Given the description of an element on the screen output the (x, y) to click on. 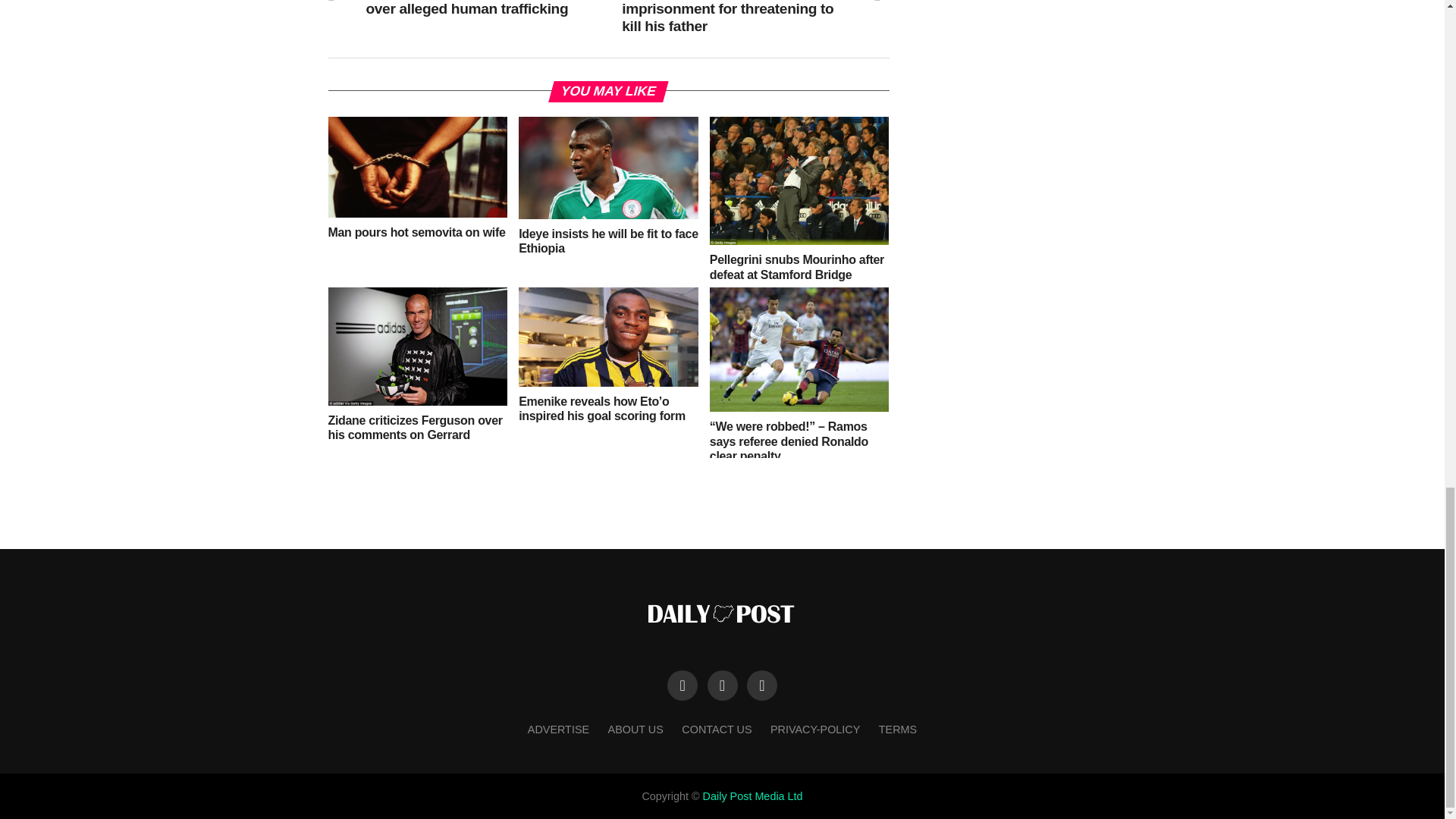
CONTACT US (716, 729)
ADVERTISE (558, 729)
ABOUT US (635, 729)
